Given the description of an element on the screen output the (x, y) to click on. 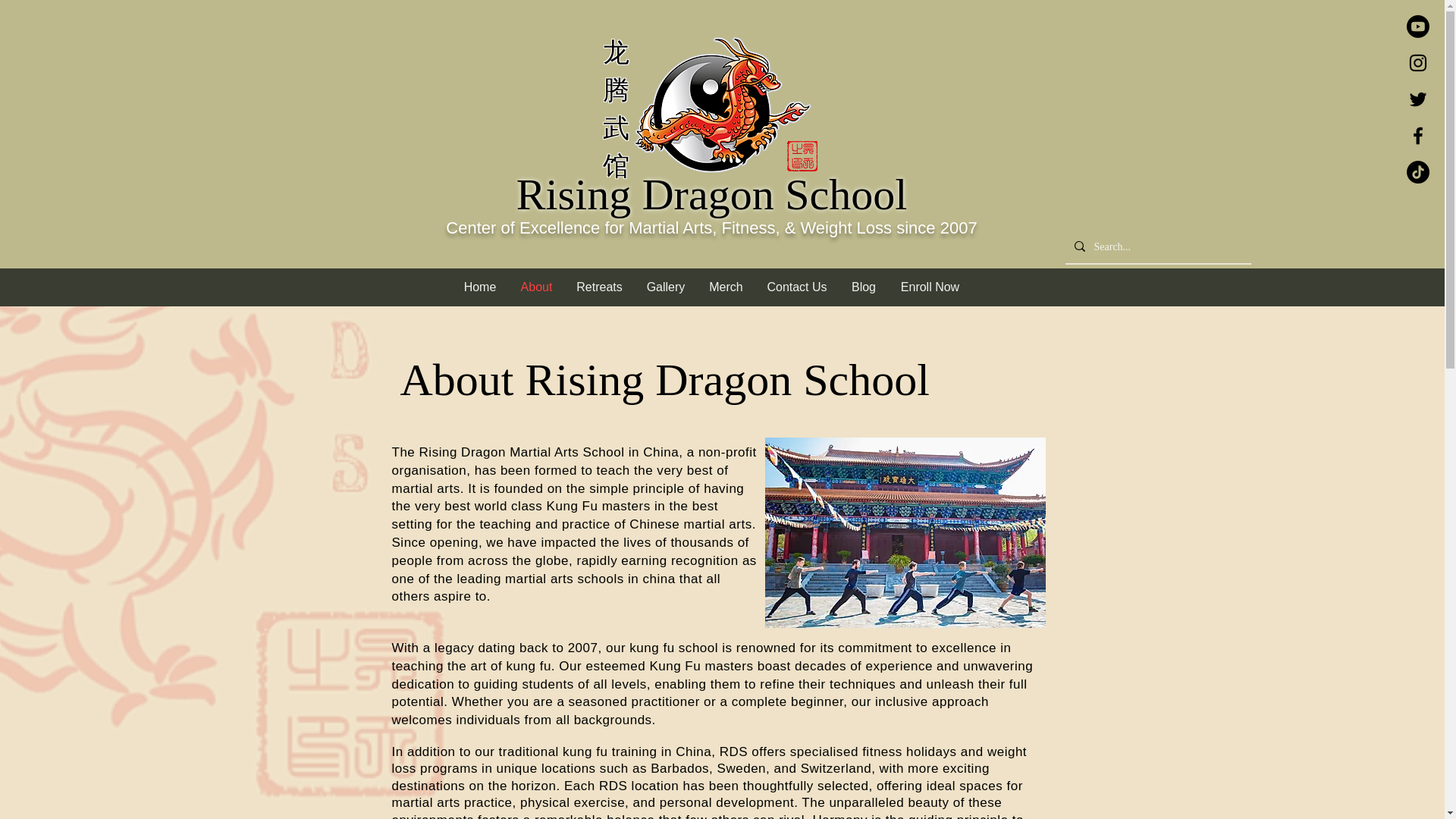
orphanage mission statement (904, 532)
Blog (863, 287)
Contact Us (797, 287)
Merch (726, 287)
Home (479, 287)
Enroll Now (930, 287)
Gallery (665, 287)
Retreats (598, 287)
About (536, 287)
Rising Dragon School (711, 194)
